Given the description of an element on the screen output the (x, y) to click on. 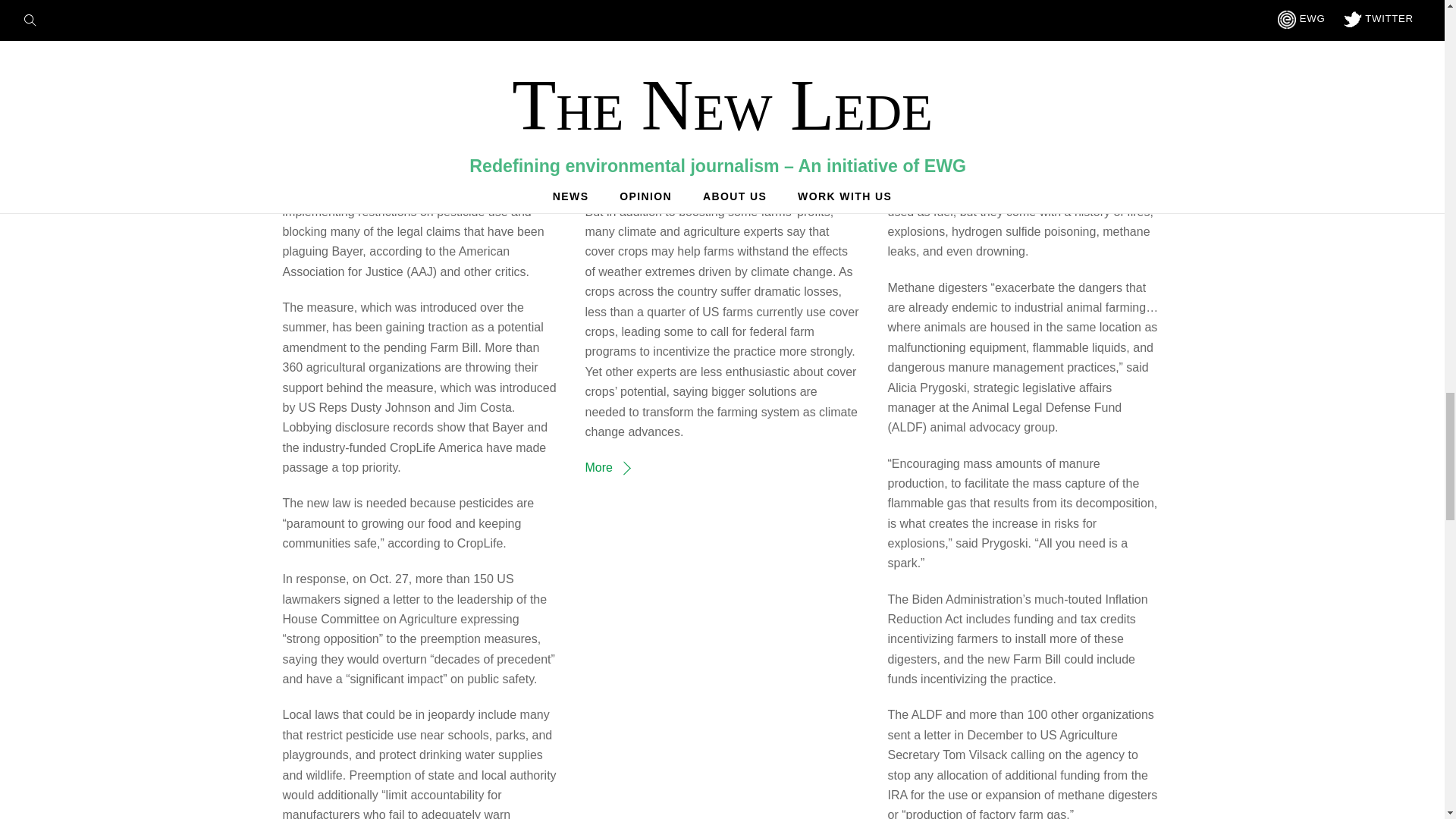
More (606, 467)
